Given the description of an element on the screen output the (x, y) to click on. 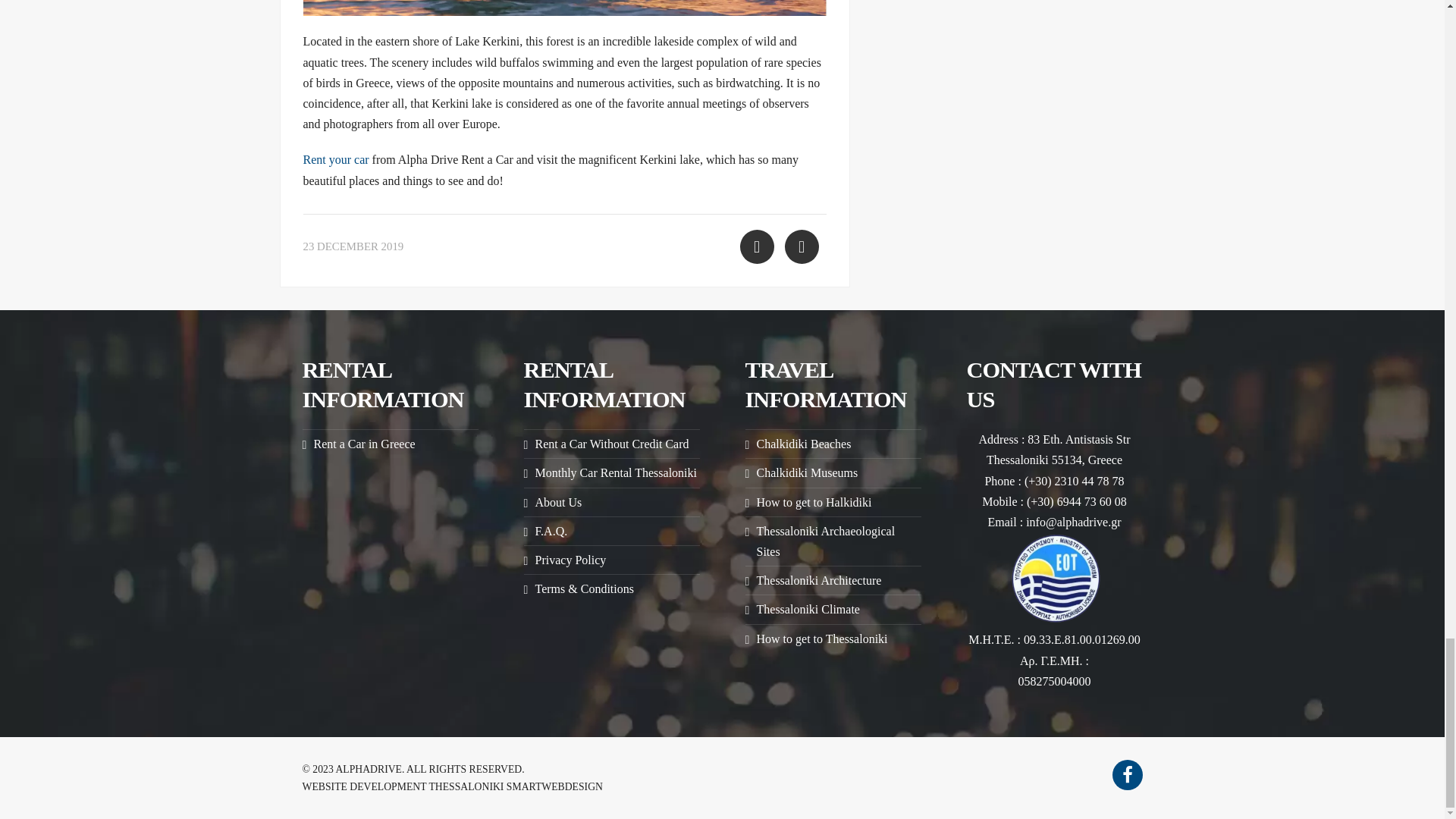
Facebook (1126, 775)
